Given the description of an element on the screen output the (x, y) to click on. 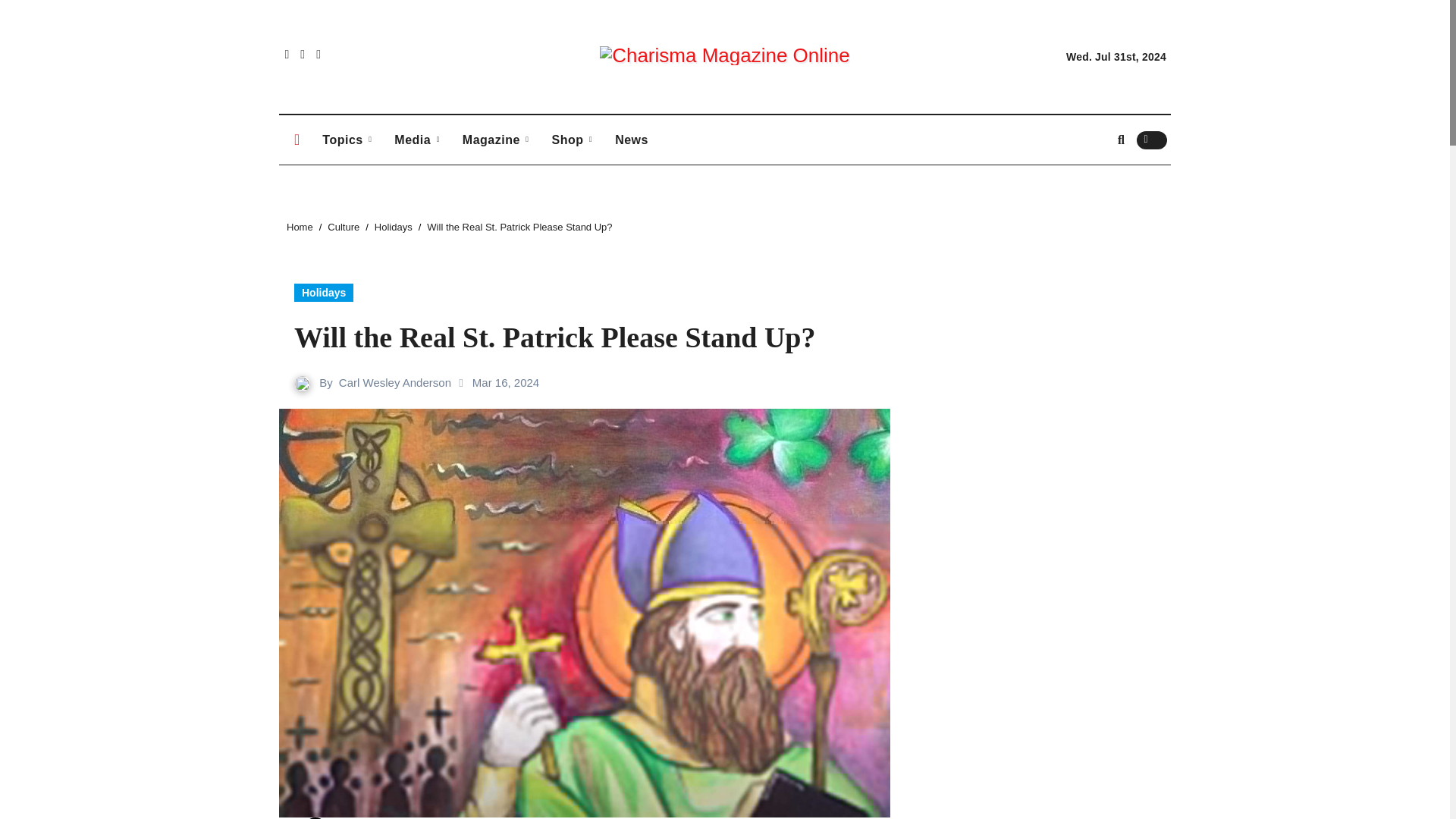
Shop (572, 139)
Media (416, 139)
Topics (346, 139)
Media (416, 139)
Home (299, 226)
News (631, 139)
Magazine (495, 139)
Topics (346, 139)
